Given the description of an element on the screen output the (x, y) to click on. 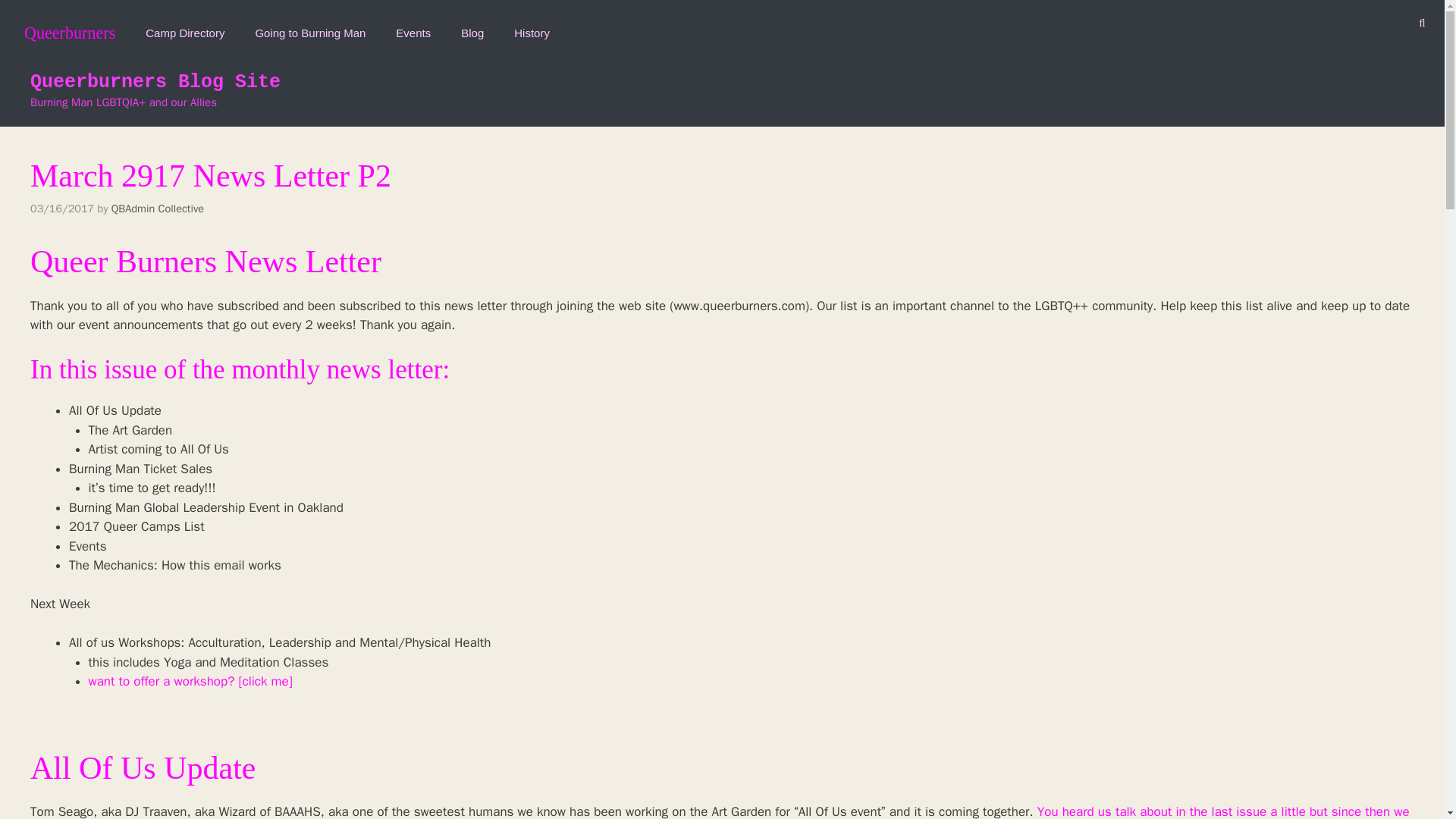
Events (412, 28)
Going to Burning Man (310, 28)
QBAdmin Collective (157, 208)
Camp Directory (185, 28)
History (531, 28)
Queerburners (65, 28)
Blog (472, 28)
View all posts by QBAdmin Collective (157, 208)
Queerburners Blog Site (155, 82)
